Given the description of an element on the screen output the (x, y) to click on. 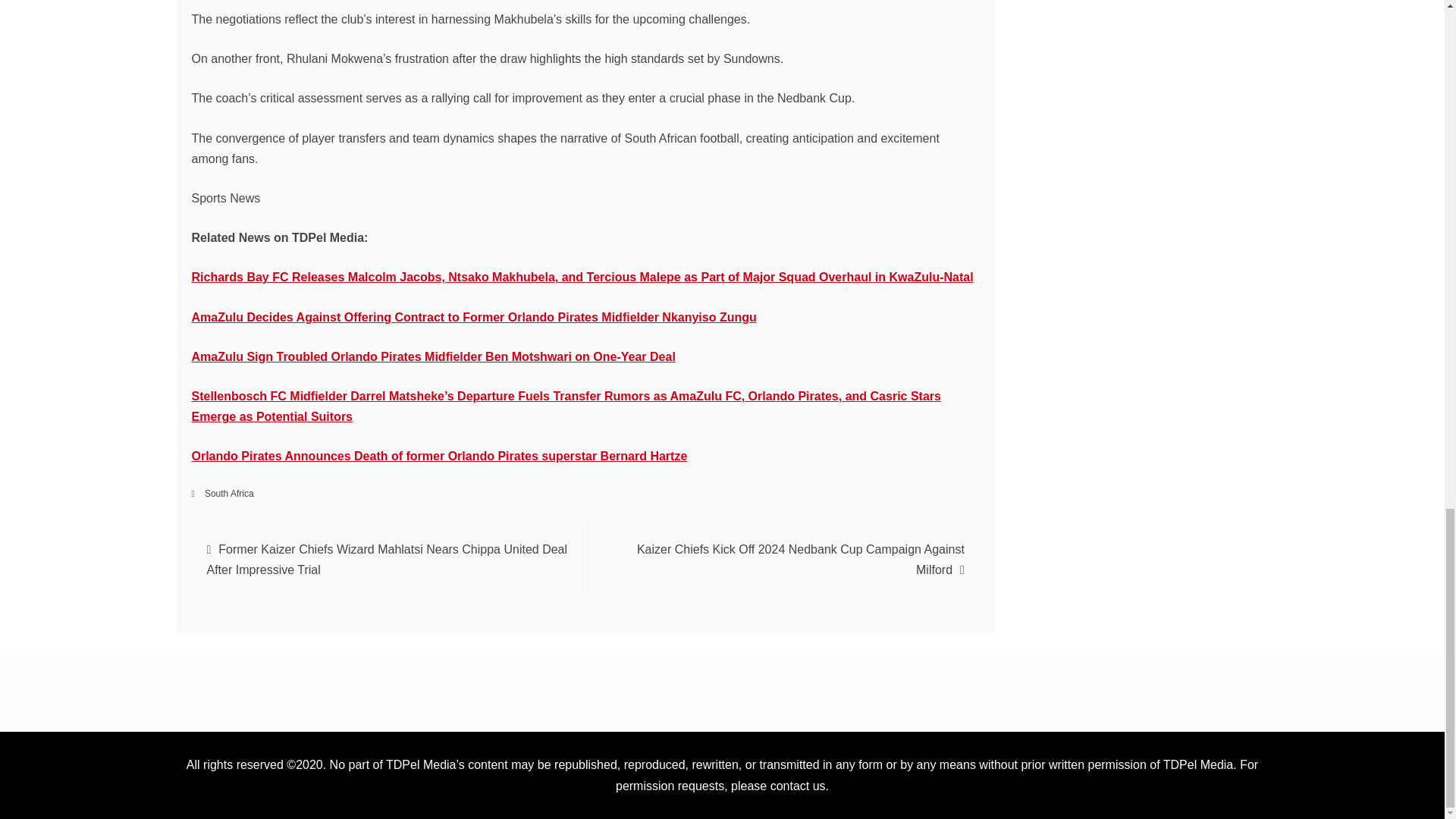
South Africa (229, 493)
